Given the description of an element on the screen output the (x, y) to click on. 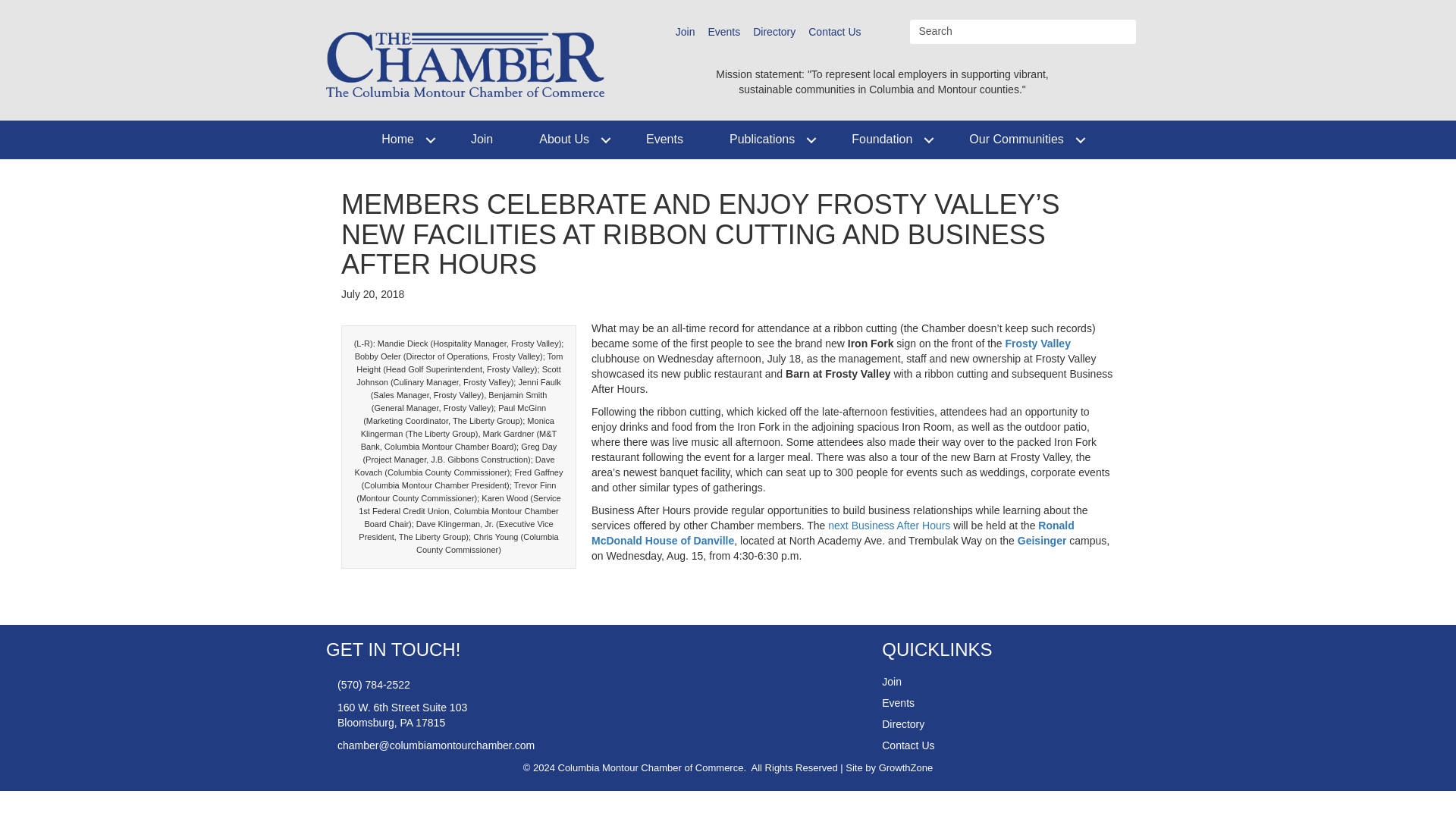
Contact Us (834, 32)
Foundation (886, 139)
Events (723, 32)
Directory (774, 32)
Home (402, 139)
Join (481, 139)
Our Communities (1021, 139)
About Us (569, 139)
Publications (767, 139)
Join (685, 32)
Events (664, 139)
